Given the description of an element on the screen output the (x, y) to click on. 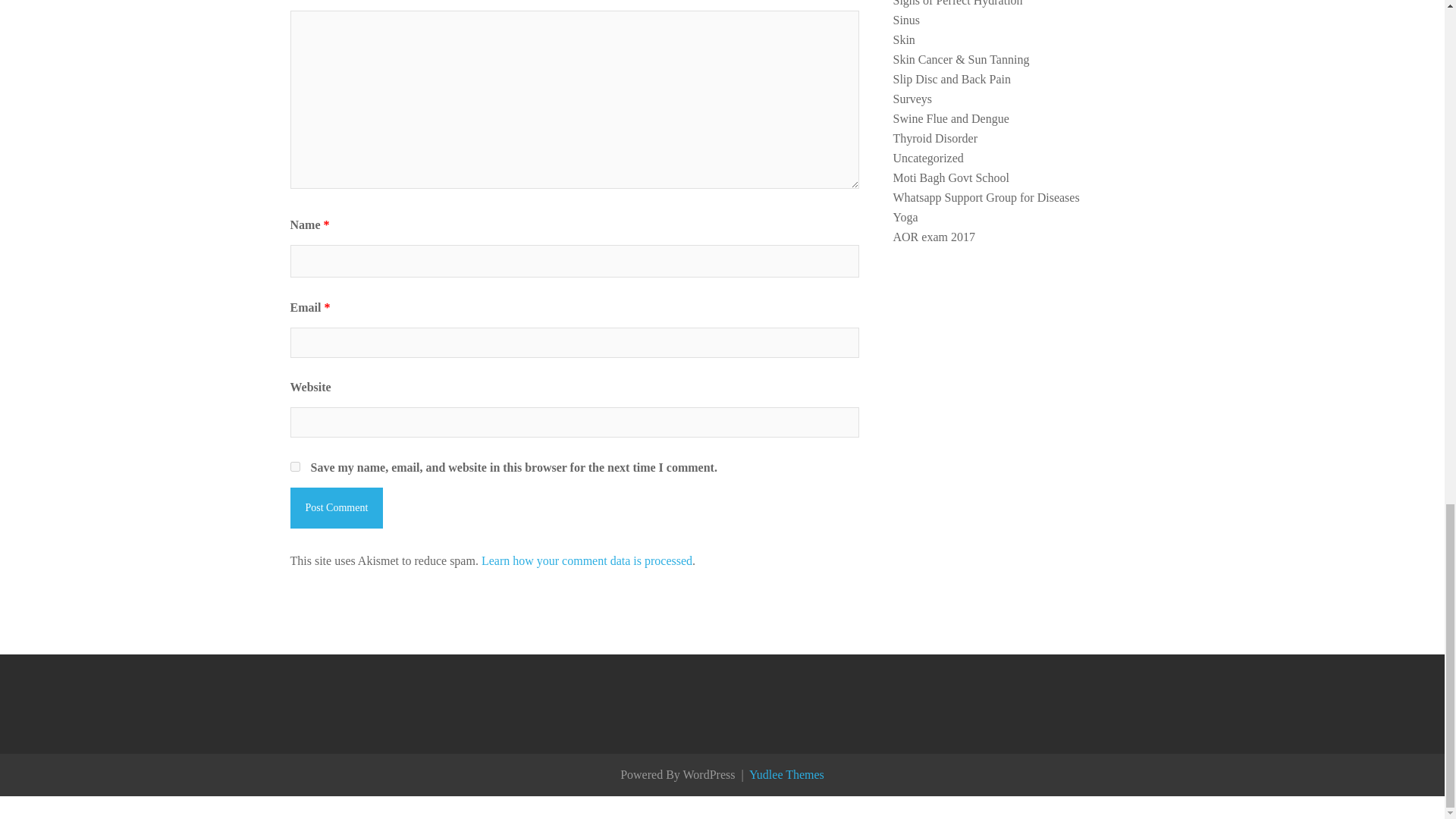
yes (294, 466)
Post Comment (335, 507)
Post Comment (335, 507)
Learn how your comment data is processed (587, 560)
